Given the description of an element on the screen output the (x, y) to click on. 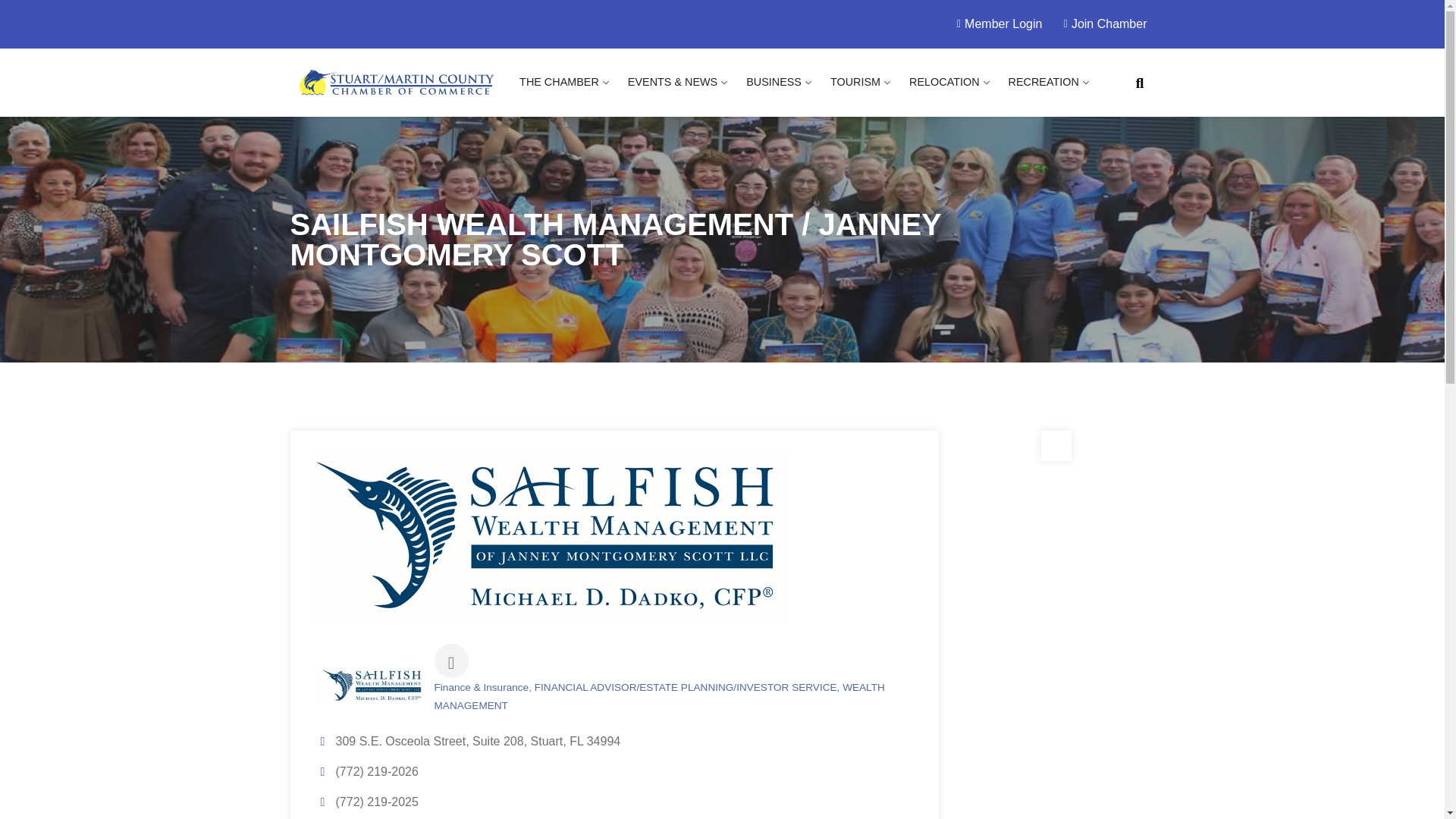
THE CHAMBER (558, 82)
TOURISM (854, 82)
BUSINESS (773, 82)
RELOCATION (943, 82)
Member Login (994, 24)
RECREATION (1043, 82)
Join Chamber (1100, 24)
